Given the description of an element on the screen output the (x, y) to click on. 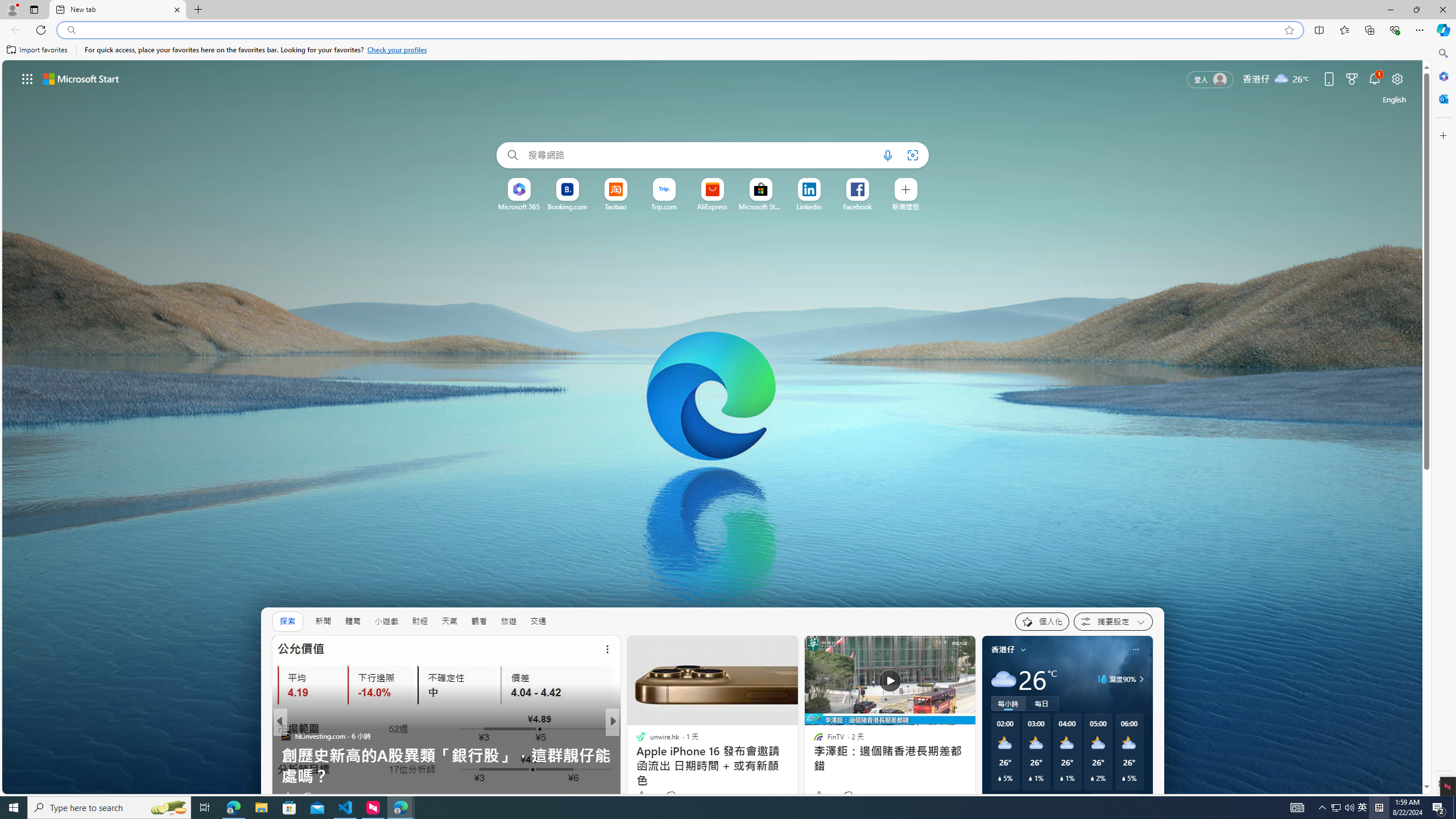
Facebook (857, 206)
Class: icon-img (1135, 649)
